Given the description of an element on the screen output the (x, y) to click on. 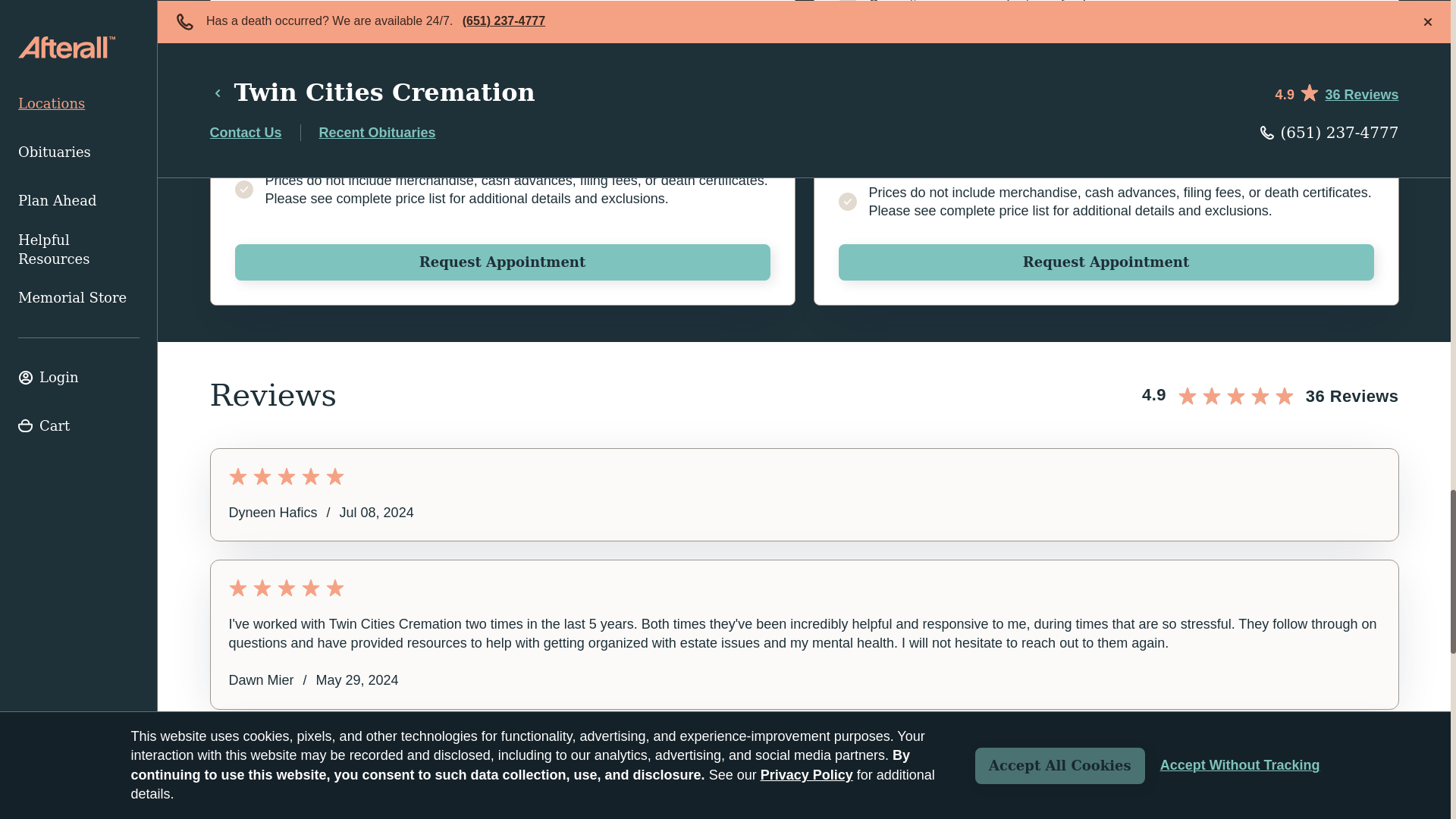
5 out of 5 Customer Rating (804, 587)
5 out of 5 Customer Rating (804, 755)
Location rating (1269, 394)
5 out of 5 Customer Rating (804, 475)
